Given the description of an element on the screen output the (x, y) to click on. 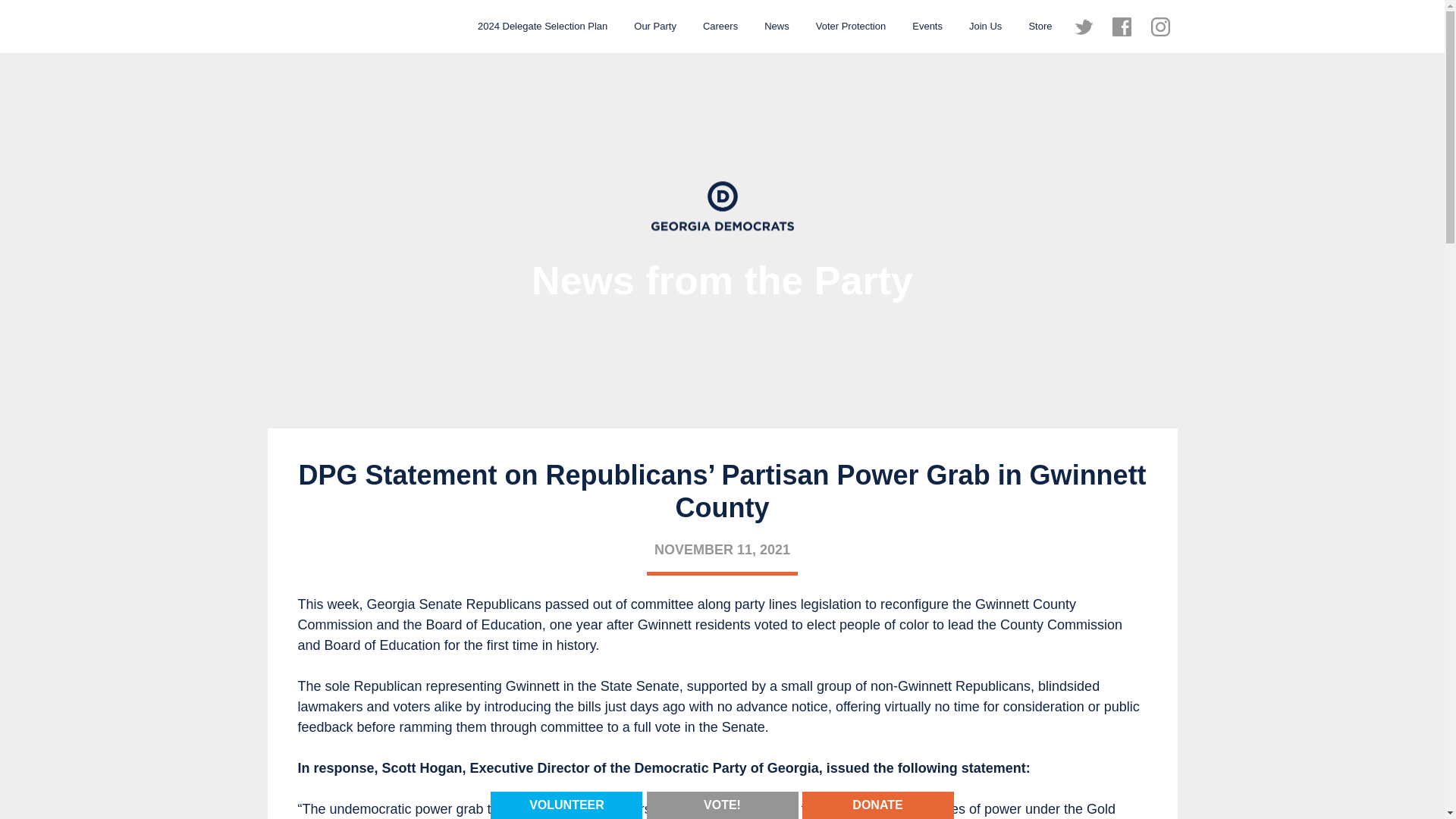
VOTE! (721, 804)
DONATE (877, 804)
Join Us (985, 25)
Store (1039, 25)
VOLUNTEER (566, 805)
Our Party (655, 25)
Careers (720, 25)
DEMOCRATIC PARTY OF GEORGIA (342, 26)
News (776, 25)
VOTE! (721, 805)
2024 Delegate Selection Plan (541, 25)
VOLUNTEER (566, 804)
Events (927, 25)
DONATE (877, 805)
Voter Protection (851, 25)
